Given the description of an element on the screen output the (x, y) to click on. 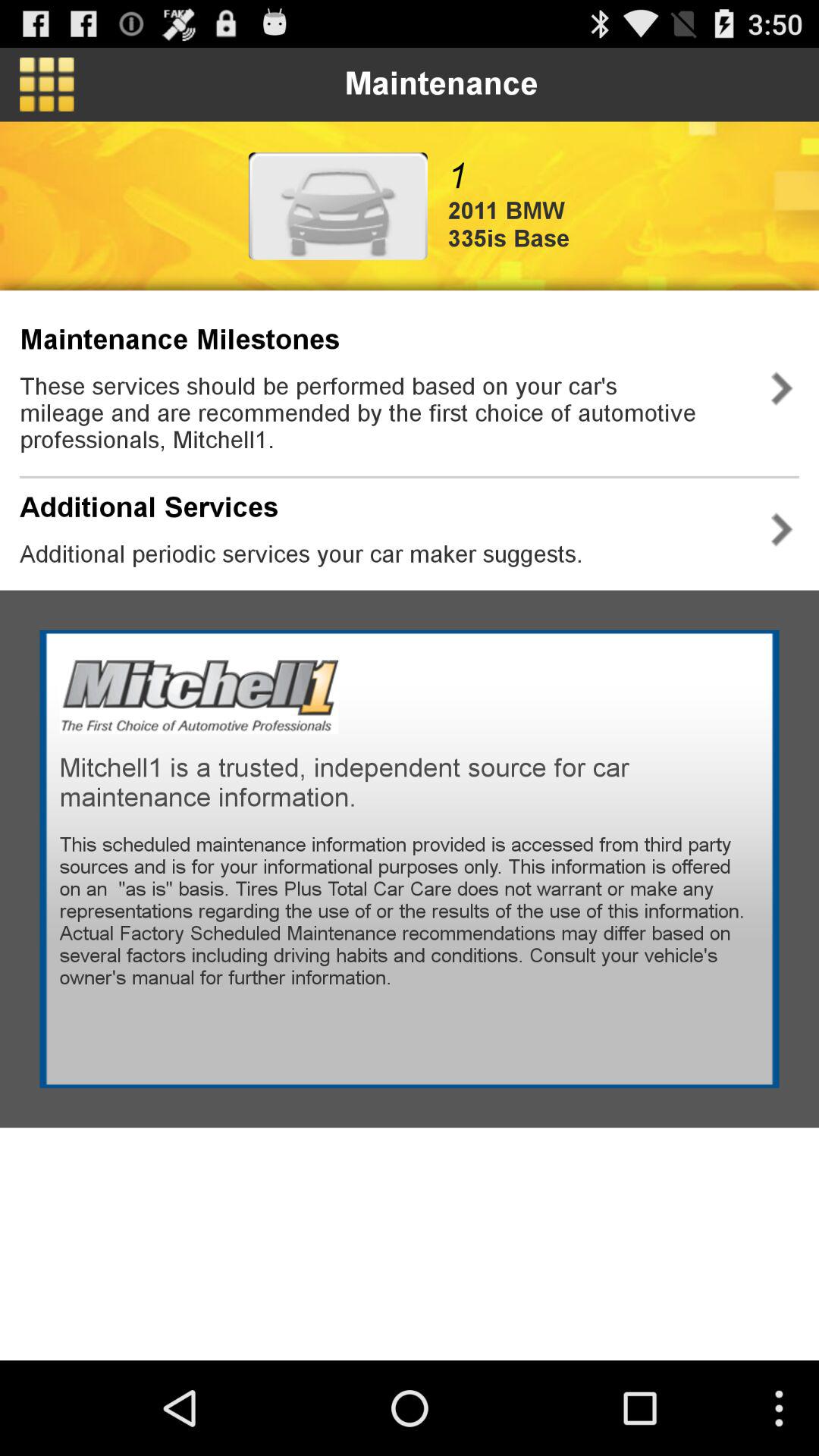
jump until maintenance milestones icon (179, 340)
